Given the description of an element on the screen output the (x, y) to click on. 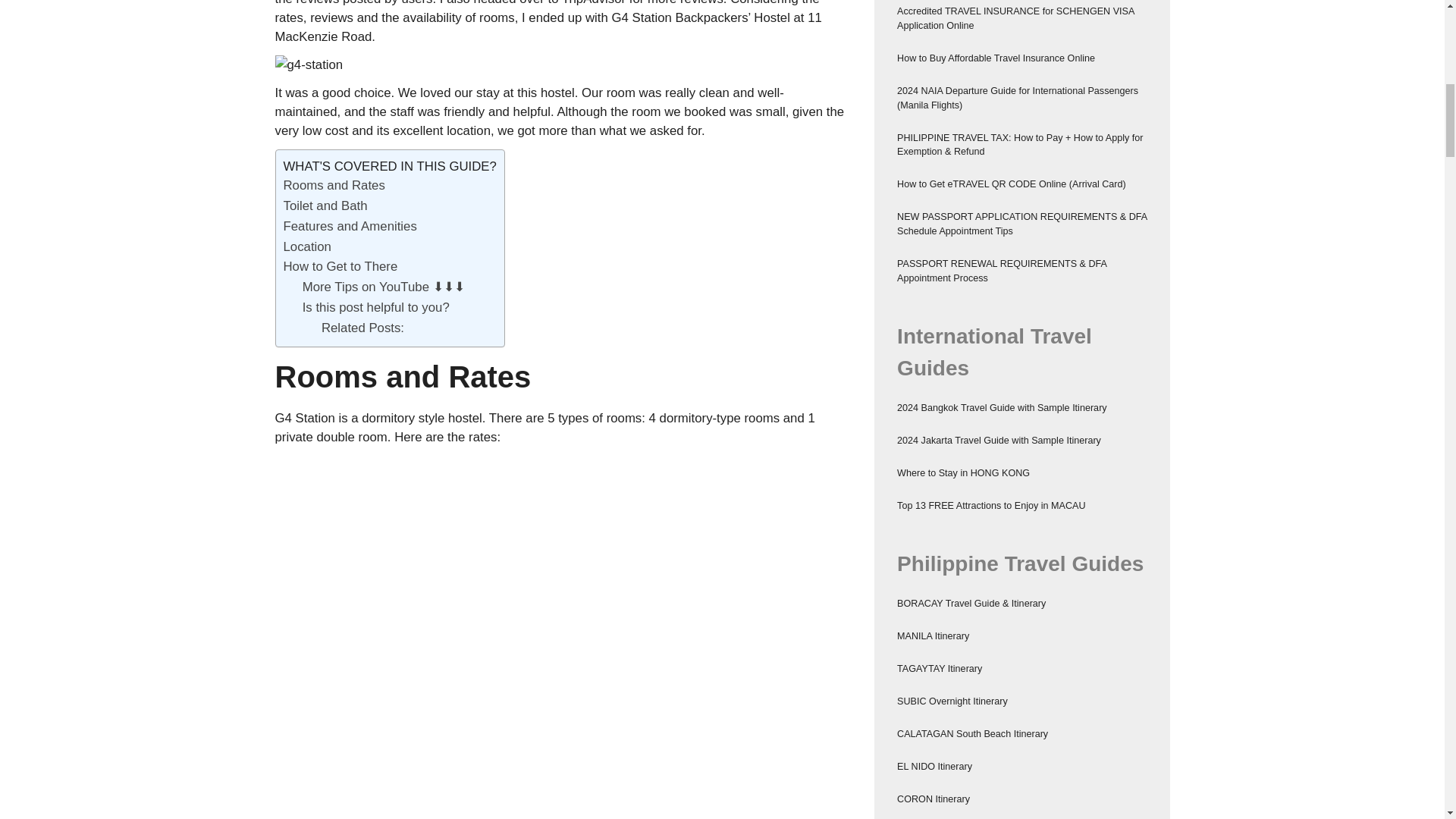
How to Get to There (340, 266)
Rooms and Rates (334, 185)
Features and Amenities (349, 226)
Location (307, 246)
g4 station singapore rates (430, 512)
Related Posts: (362, 327)
Is this post helpful to you?  (375, 307)
Toilet and Bath (325, 205)
